Given the description of an element on the screen output the (x, y) to click on. 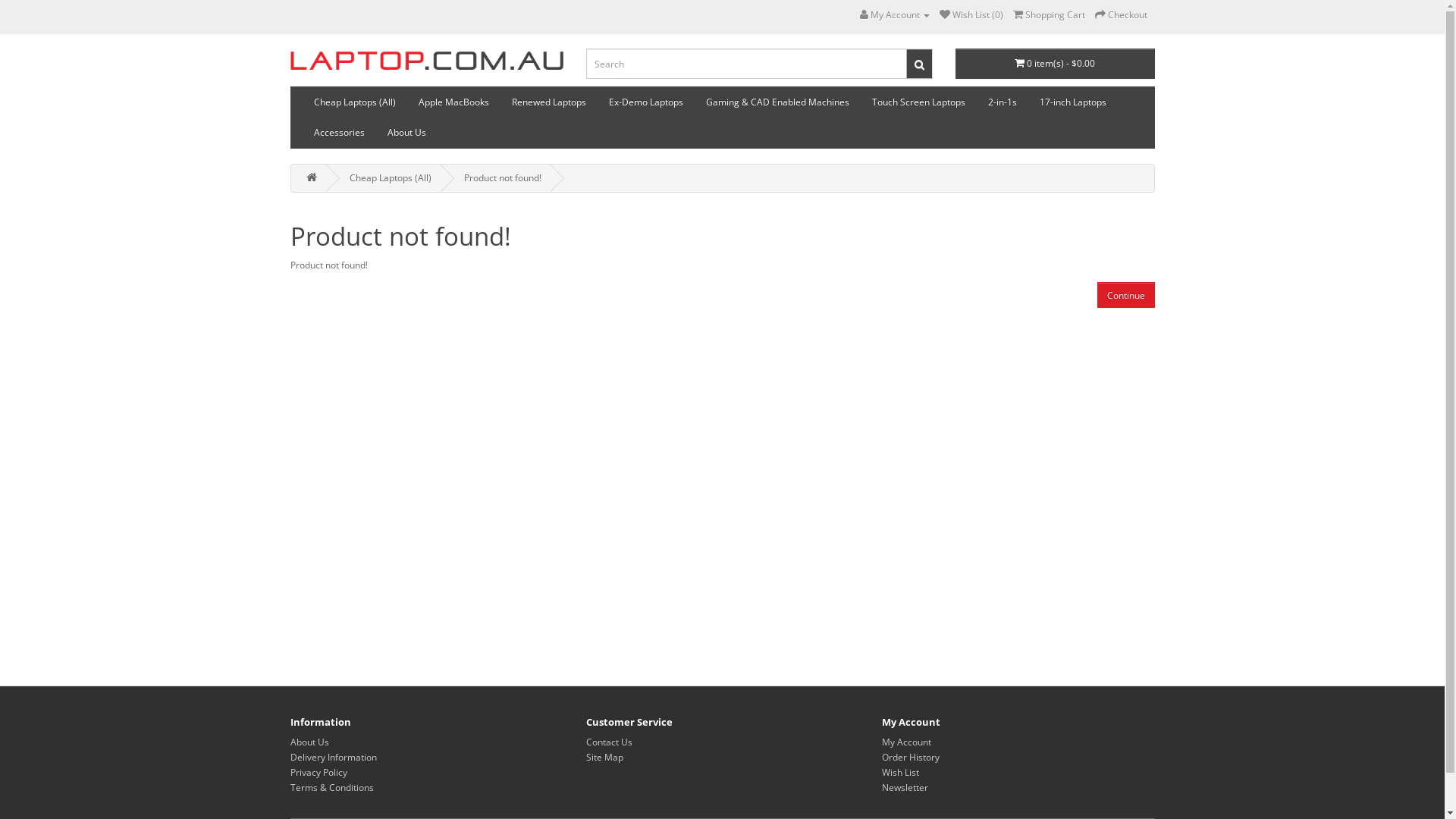
Shopping Cart Element type: text (1049, 14)
Checkout Element type: text (1121, 14)
Wish List (0) Element type: text (970, 14)
Renewed Laptops Element type: text (548, 102)
Laptop.com.au Pty Ltd Element type: hover (425, 58)
Gaming & CAD Enabled Machines Element type: text (777, 102)
Delivery Information Element type: text (332, 756)
Contact Us Element type: text (608, 741)
Order History Element type: text (909, 756)
Cheap Laptops (All) Element type: text (353, 102)
About Us Element type: text (308, 741)
Apple MacBooks Element type: text (452, 102)
Continue Element type: text (1125, 294)
Site Map Element type: text (603, 756)
Newsletter Element type: text (904, 787)
Ex-Demo Laptops Element type: text (645, 102)
About Us Element type: text (406, 132)
Product not found! Element type: text (502, 177)
My Account Element type: text (905, 741)
17-inch Laptops Element type: text (1072, 102)
Privacy Policy Element type: text (317, 771)
2-in-1s Element type: text (1002, 102)
0 item(s) - $0.00 Element type: text (1054, 63)
Touch Screen Laptops Element type: text (917, 102)
Cheap Laptops (All) Element type: text (389, 177)
Wish List Element type: text (899, 771)
My Account Element type: text (894, 14)
Accessories Element type: text (338, 132)
Terms & Conditions Element type: text (331, 787)
